Given the description of an element on the screen output the (x, y) to click on. 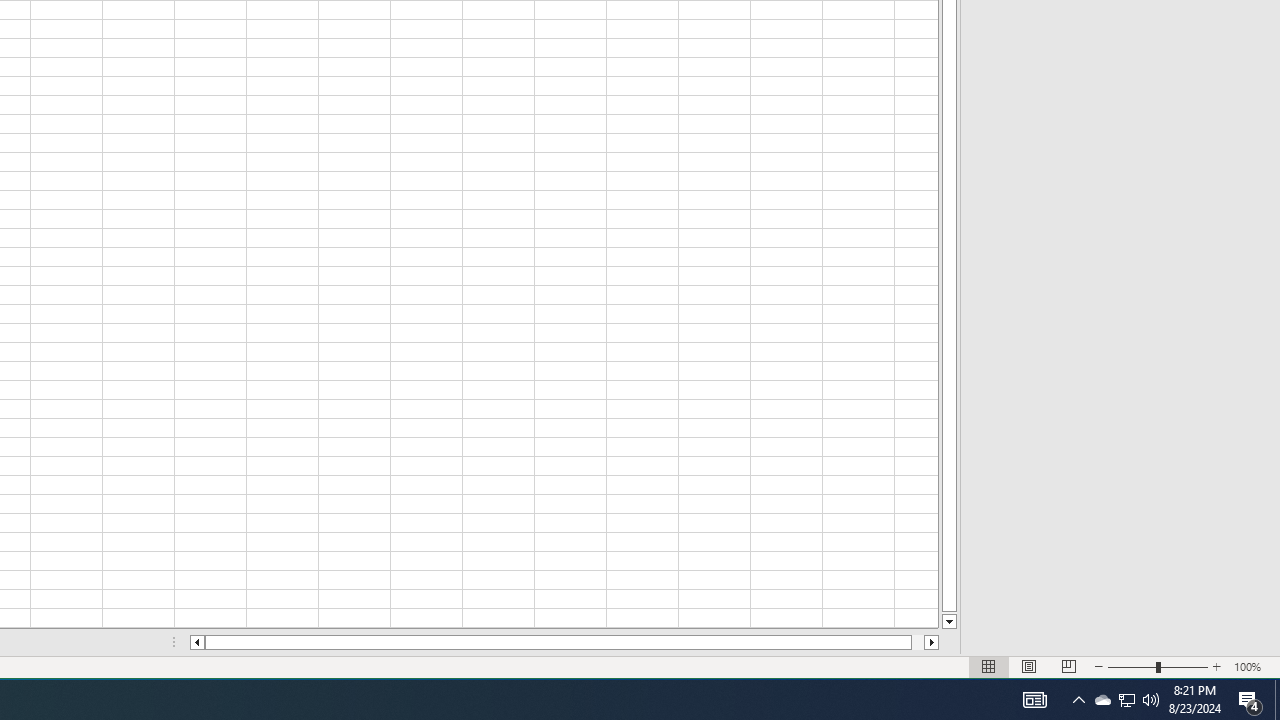
Show desktop (1102, 699)
Notification Chevron (1277, 699)
Q2790: 100% (1078, 699)
User Promoted Notification Area (1151, 699)
